Given the description of an element on the screen output the (x, y) to click on. 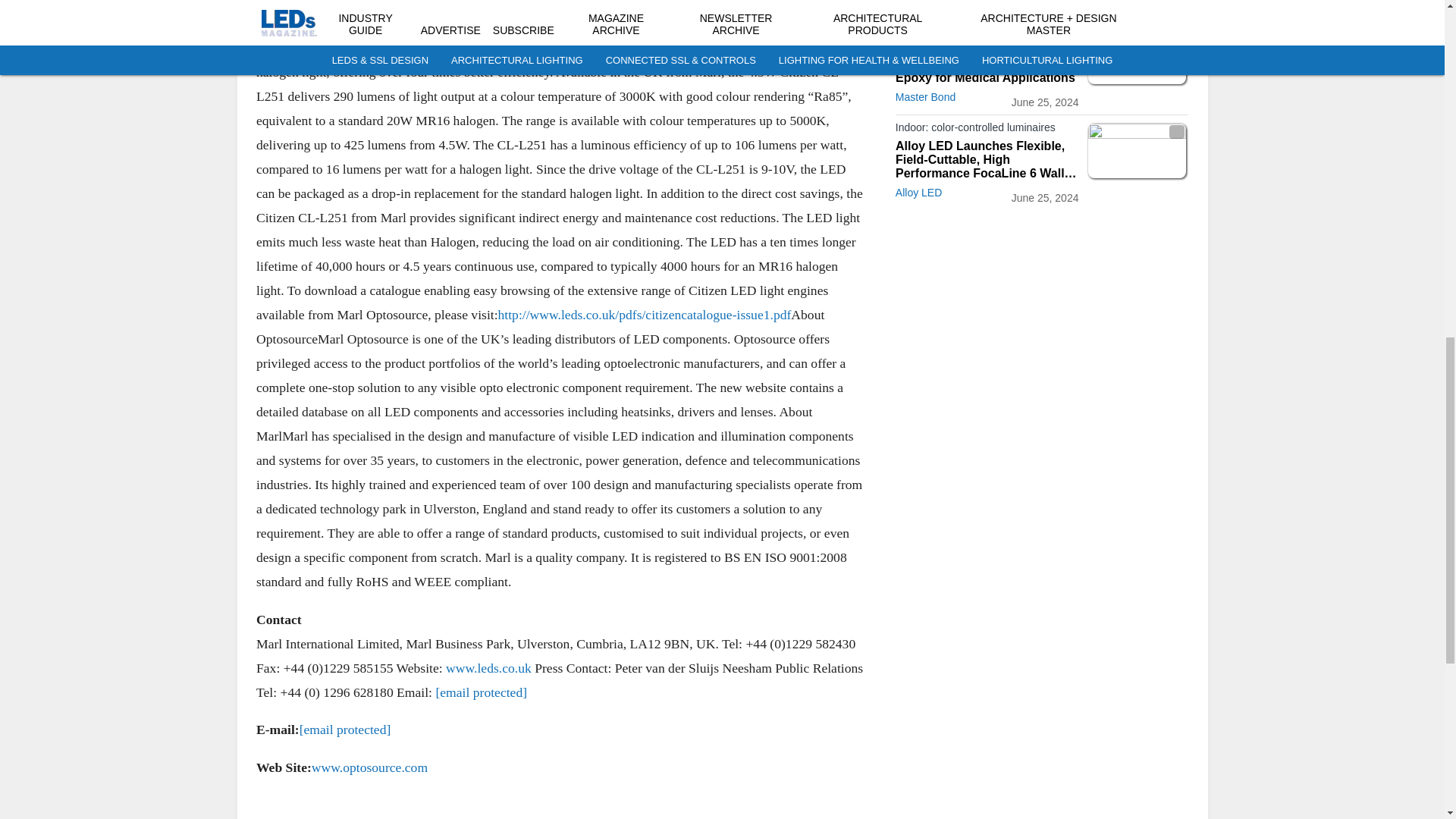
www.leds.co.uk (488, 667)
24139 0 thumb (559, 11)
www.optosource.com (368, 767)
Alloy LED (918, 4)
